Given the description of an element on the screen output the (x, y) to click on. 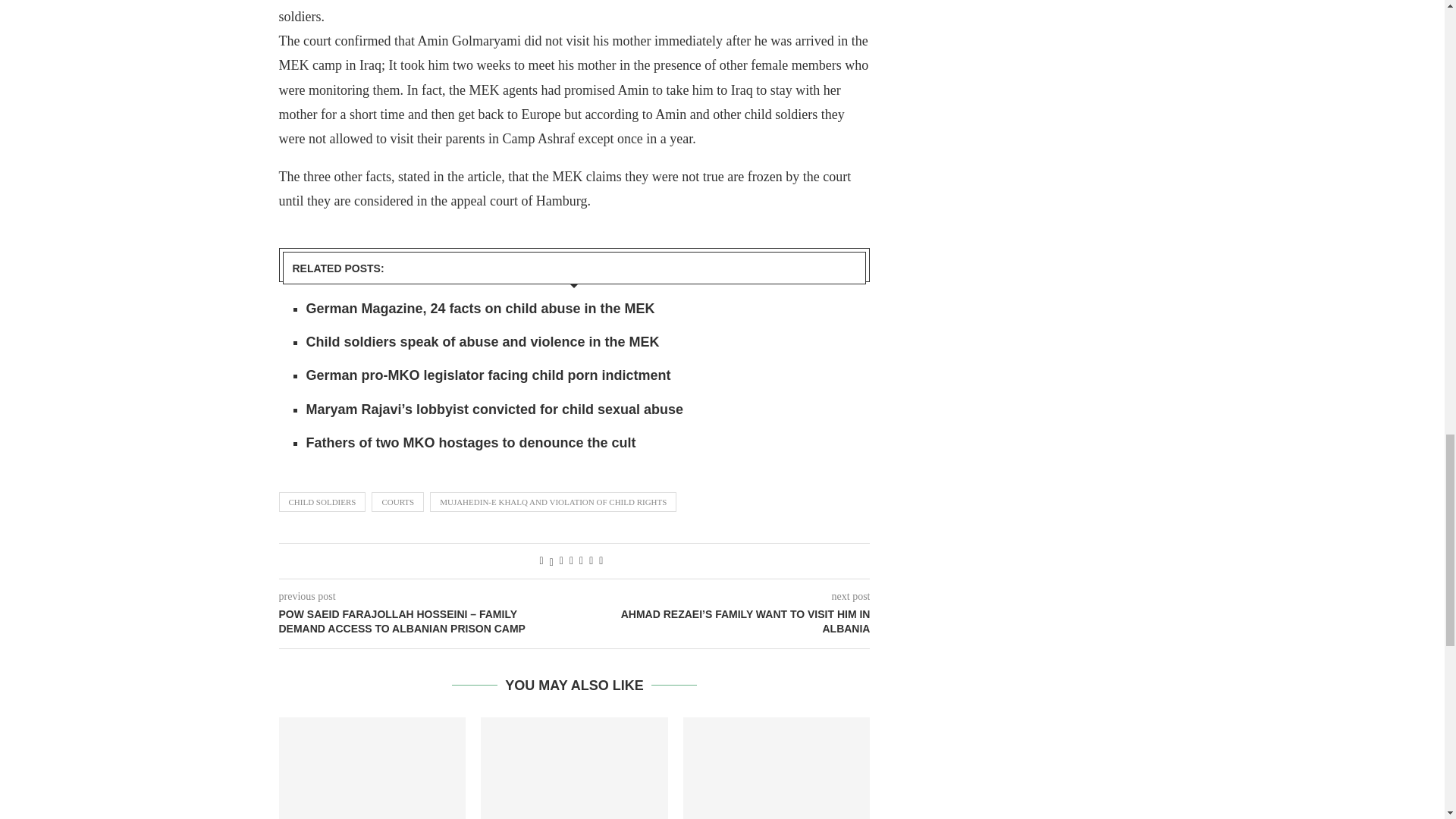
MEK child soldier committed suicide due to mental pressures (574, 768)
The Children of Camp Ashraf Documentary (776, 768)
